Given the description of an element on the screen output the (x, y) to click on. 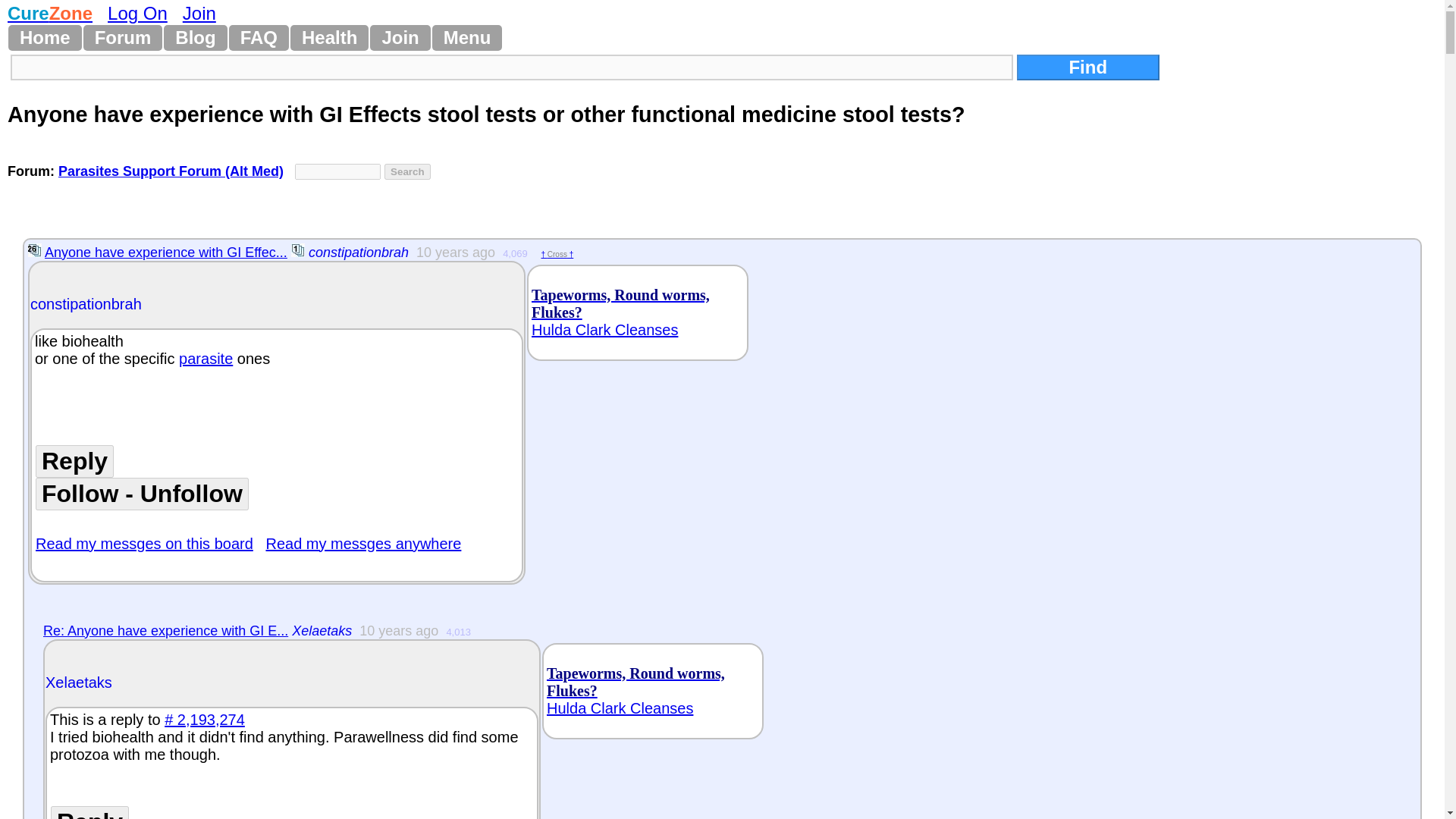
Forum (122, 37)
www.curezone.org Homepage (50, 13)
Forum Submenu (122, 37)
Log On (137, 13)
Join CureZone (199, 13)
Find (1087, 67)
Follow - Unfollow (141, 493)
Menu (467, 37)
Health, Diet, Cleansing (328, 37)
Homepage (44, 37)
